Given the description of an element on the screen output the (x, y) to click on. 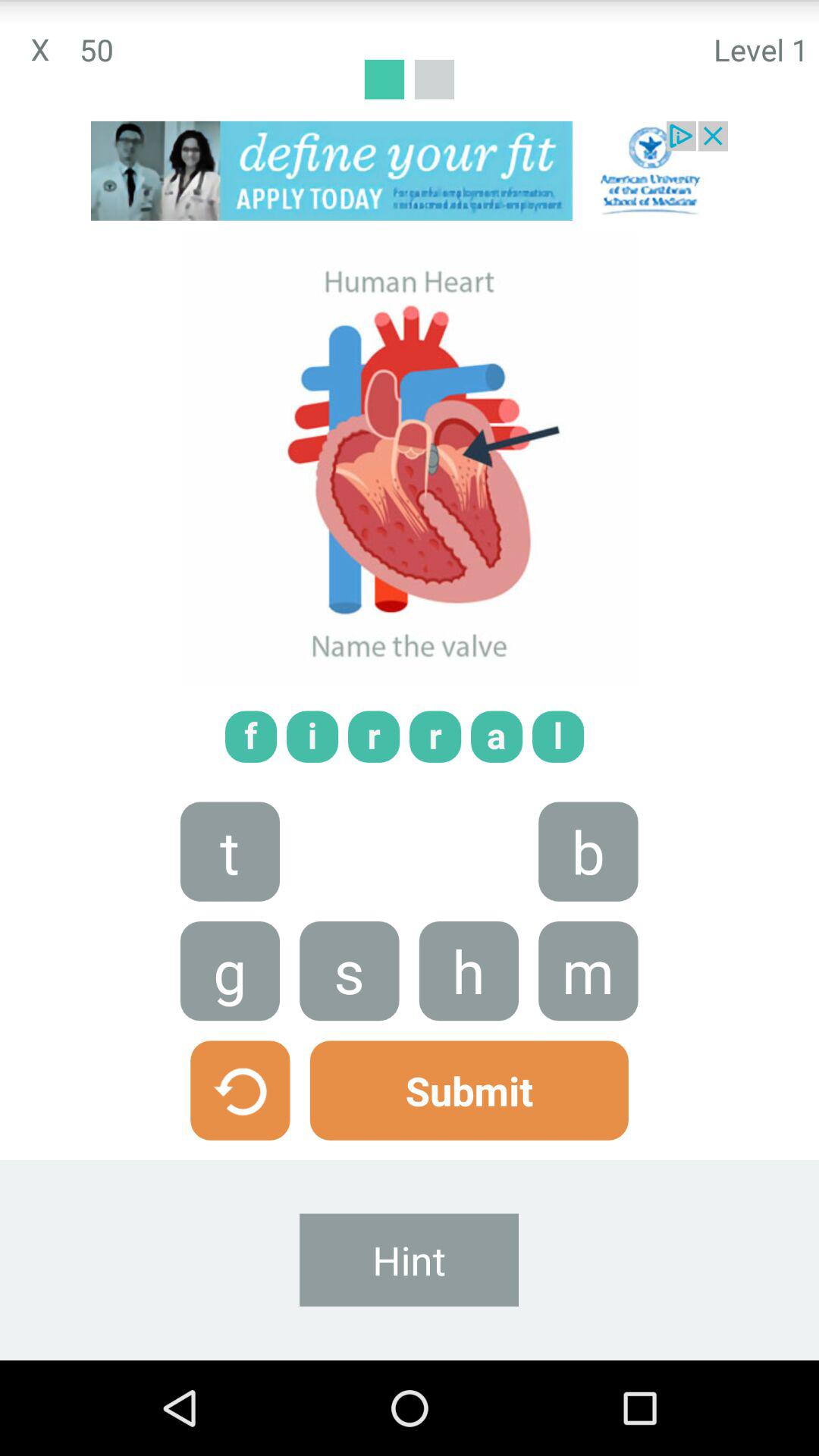
adverstisment (409, 170)
